Given the description of an element on the screen output the (x, y) to click on. 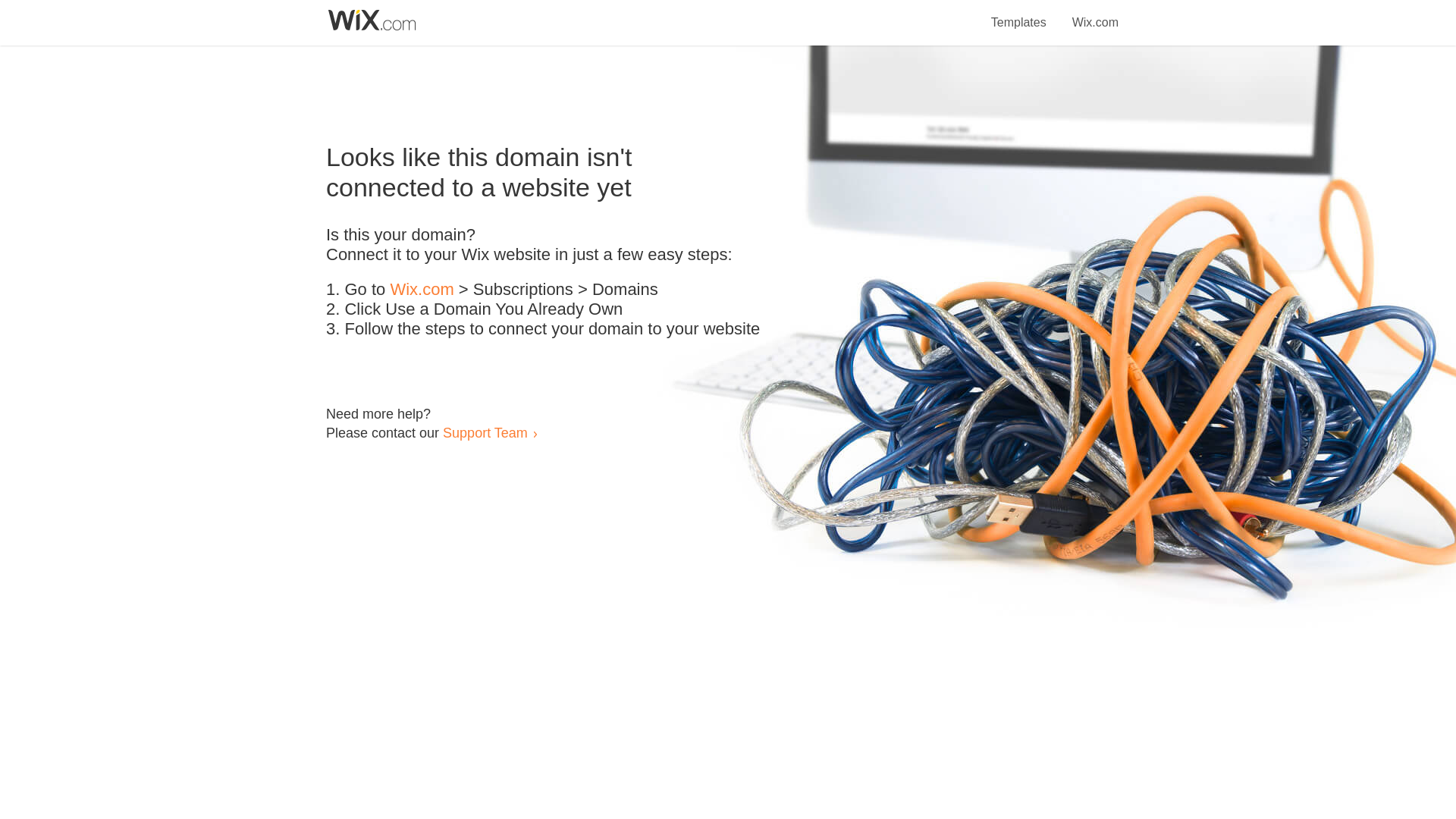
Wix.com (421, 289)
Wix.com (1095, 14)
Templates (1018, 14)
Support Team (484, 432)
